Given the description of an element on the screen output the (x, y) to click on. 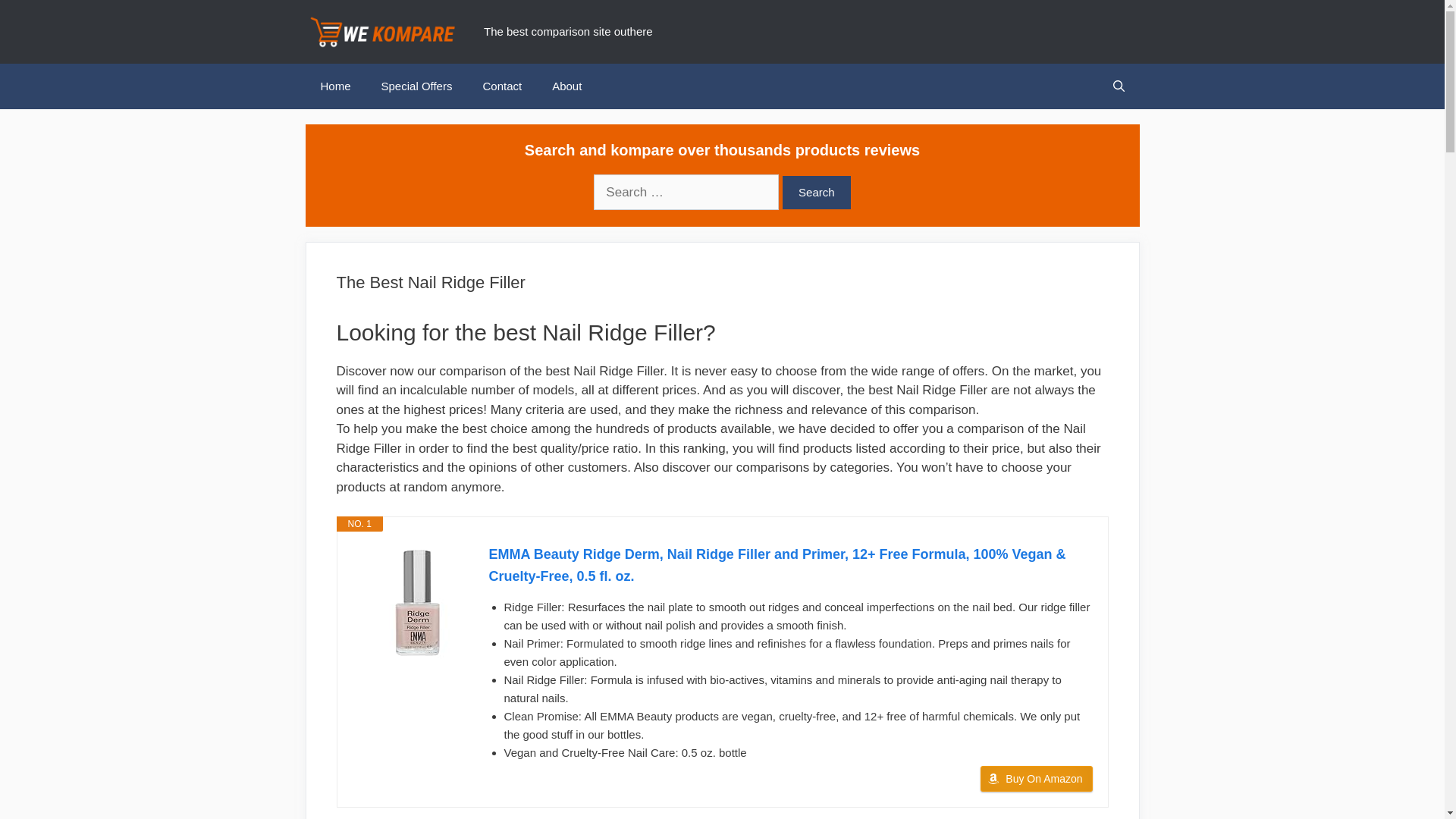
Home (334, 85)
Search (816, 192)
Search for: (686, 192)
Search (816, 192)
Buy On Amazon (1035, 778)
Buy On Amazon (1035, 778)
About (566, 85)
Contact (502, 85)
Special Offers (416, 85)
Search (816, 192)
